Given the description of an element on the screen output the (x, y) to click on. 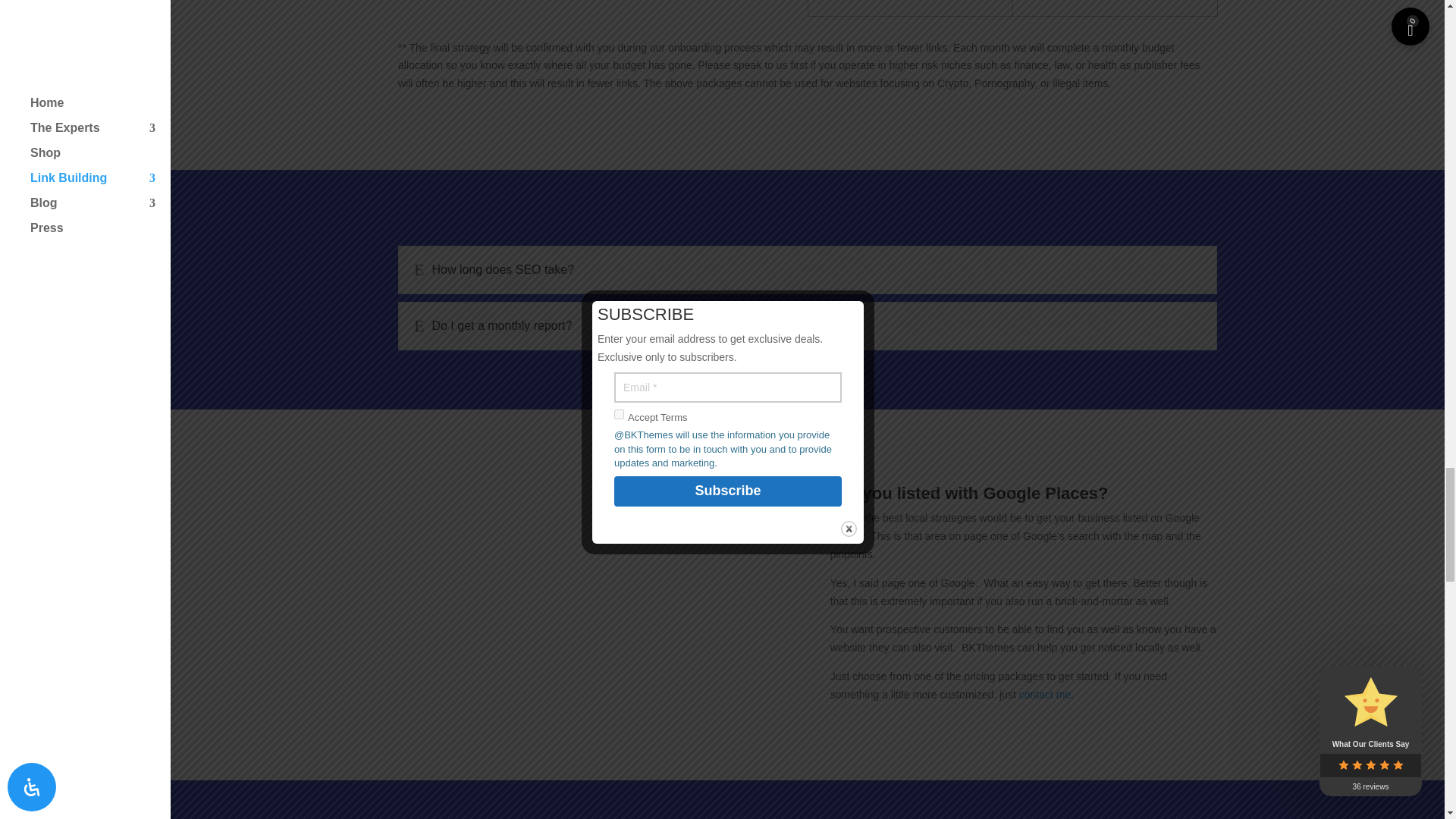
Seo 2 (590, 593)
Seo 3 (1023, 800)
